Given the description of an element on the screen output the (x, y) to click on. 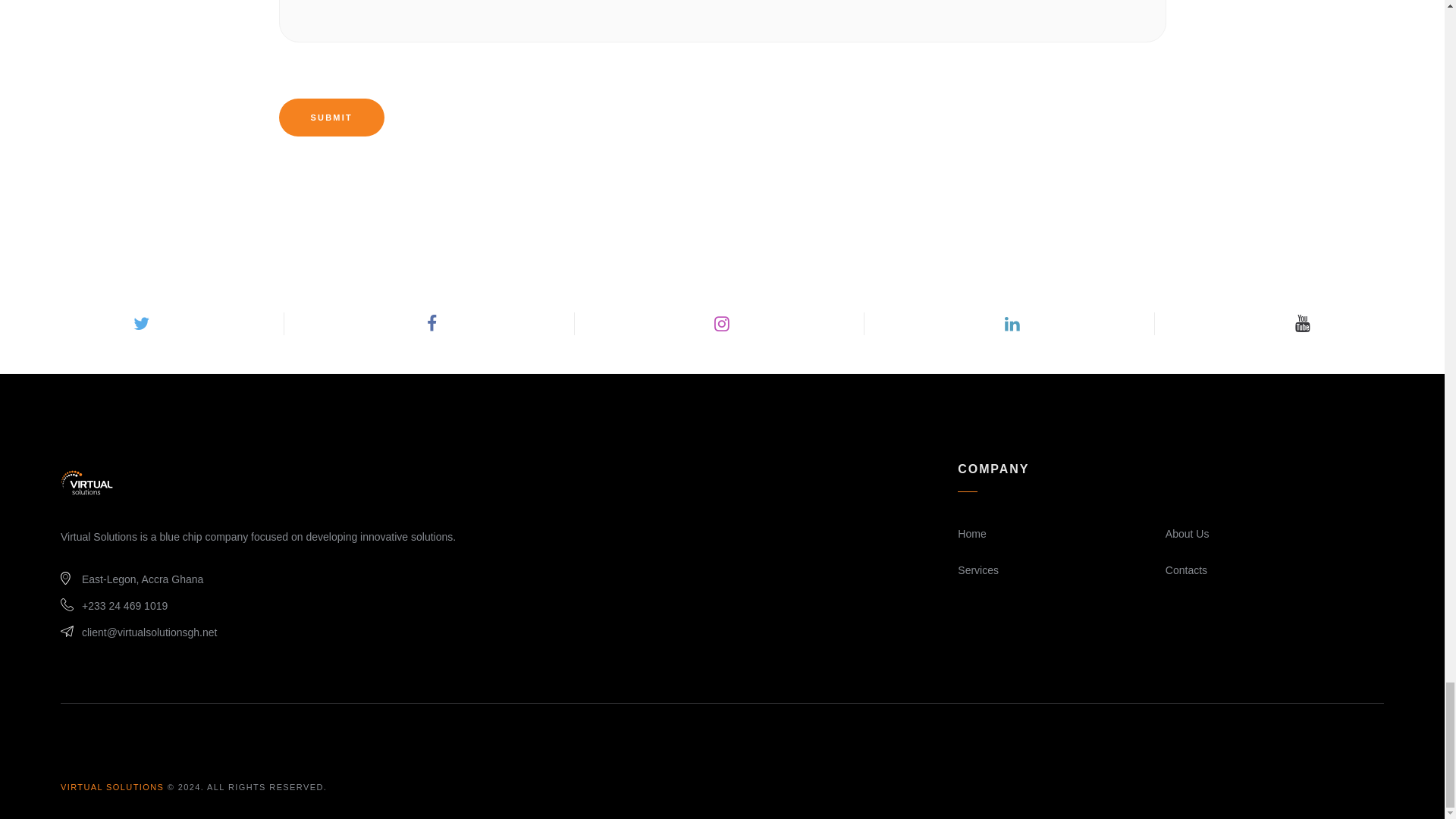
Submit (331, 117)
Submit (331, 117)
